Given the description of an element on the screen output the (x, y) to click on. 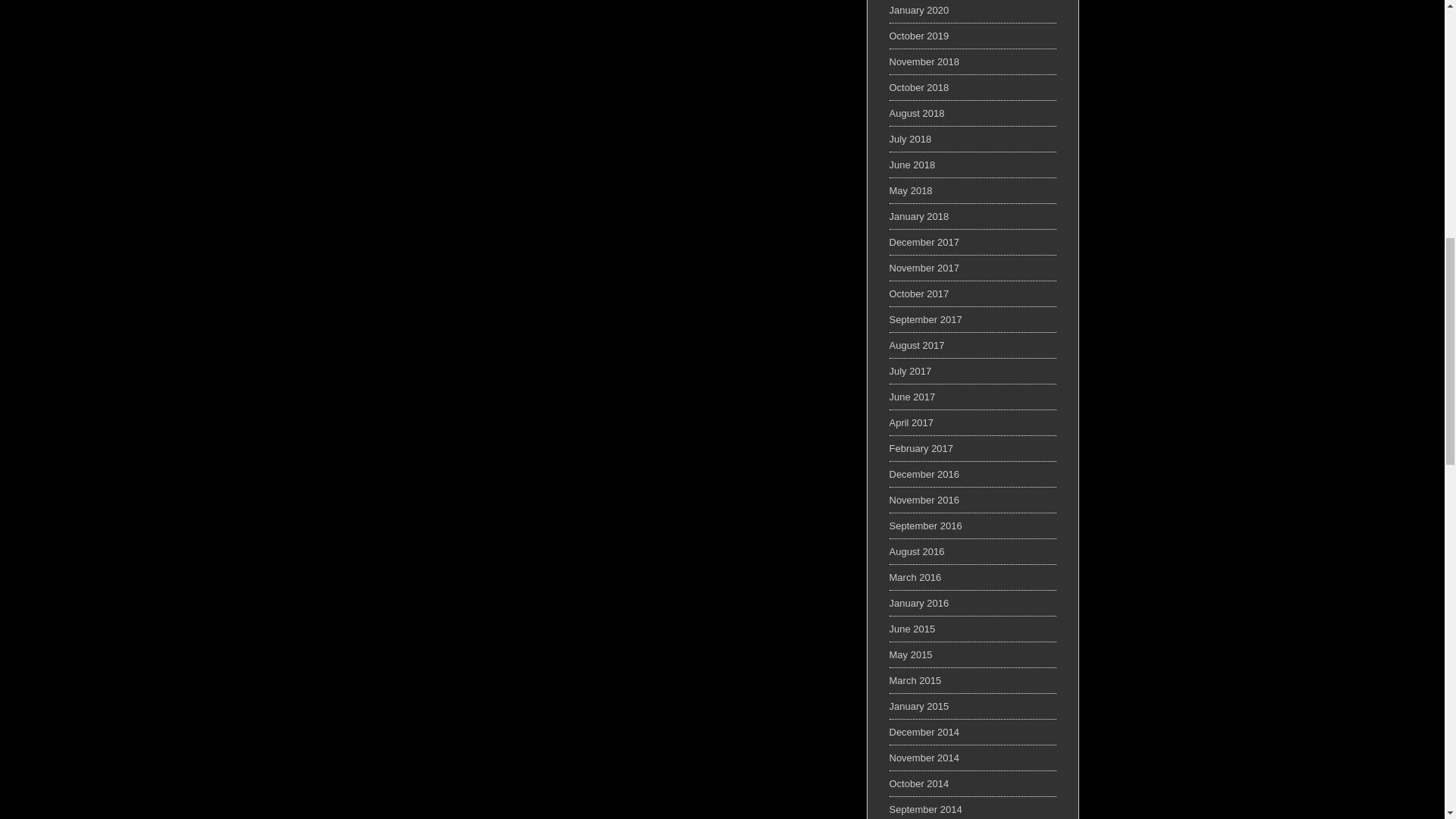
October 2017 (918, 293)
August 2018 (915, 112)
December 2017 (923, 242)
November 2017 (923, 267)
May 2018 (909, 190)
July 2017 (909, 370)
January 2018 (918, 215)
September 2017 (924, 319)
October 2018 (918, 87)
October 2019 (918, 35)
July 2018 (909, 138)
June 2018 (911, 164)
November 2018 (923, 61)
August 2017 (915, 345)
January 2020 (918, 9)
